Given the description of an element on the screen output the (x, y) to click on. 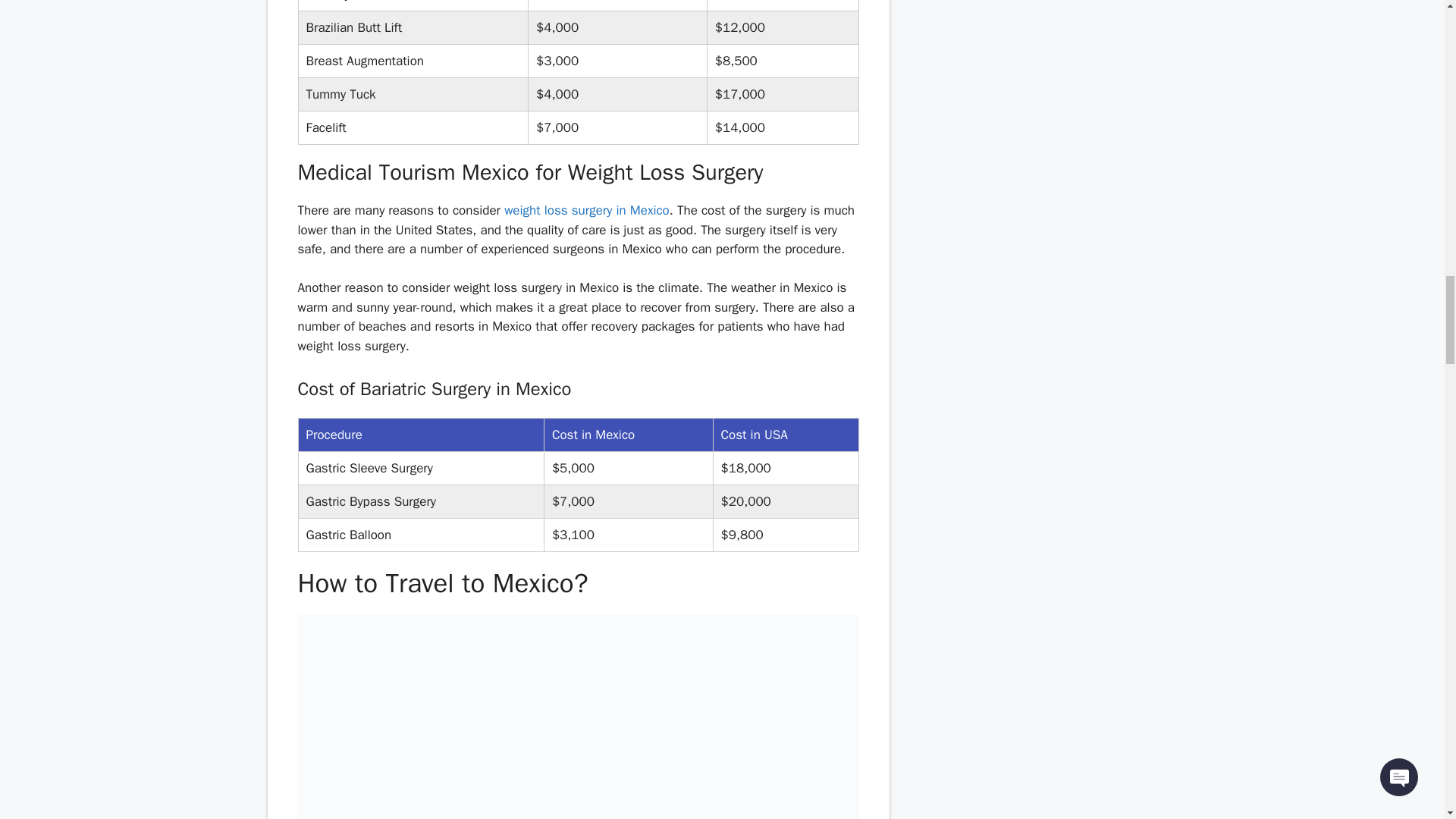
weight loss surgery in Mexico (586, 210)
Traveling to Mexico (578, 716)
